Given the description of an element on the screen output the (x, y) to click on. 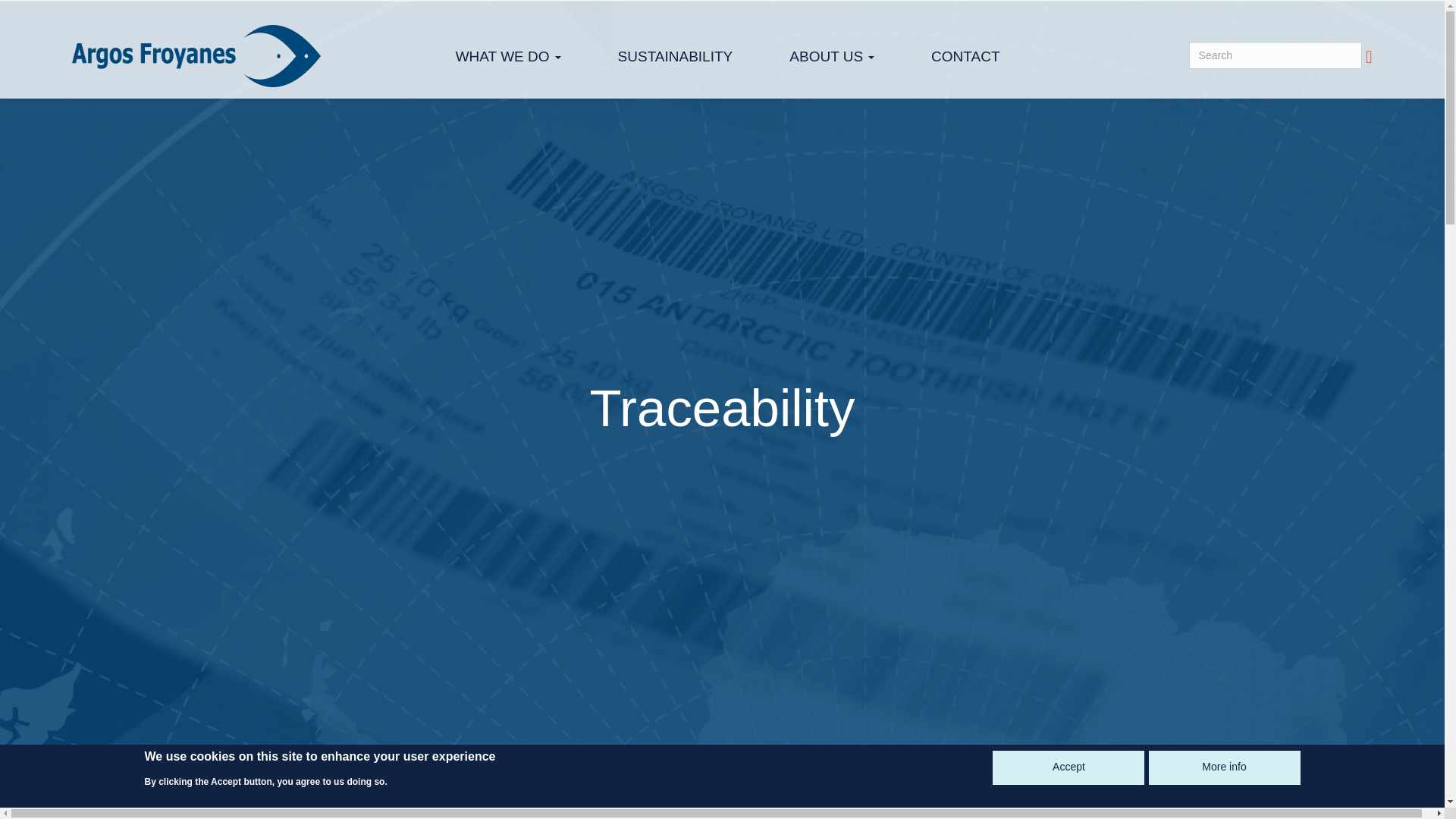
WHAT WE DO (507, 56)
SUSTAINABILITY (675, 56)
Search (1369, 55)
CONTACT (964, 56)
ABOUT US (832, 56)
